Given the description of an element on the screen output the (x, y) to click on. 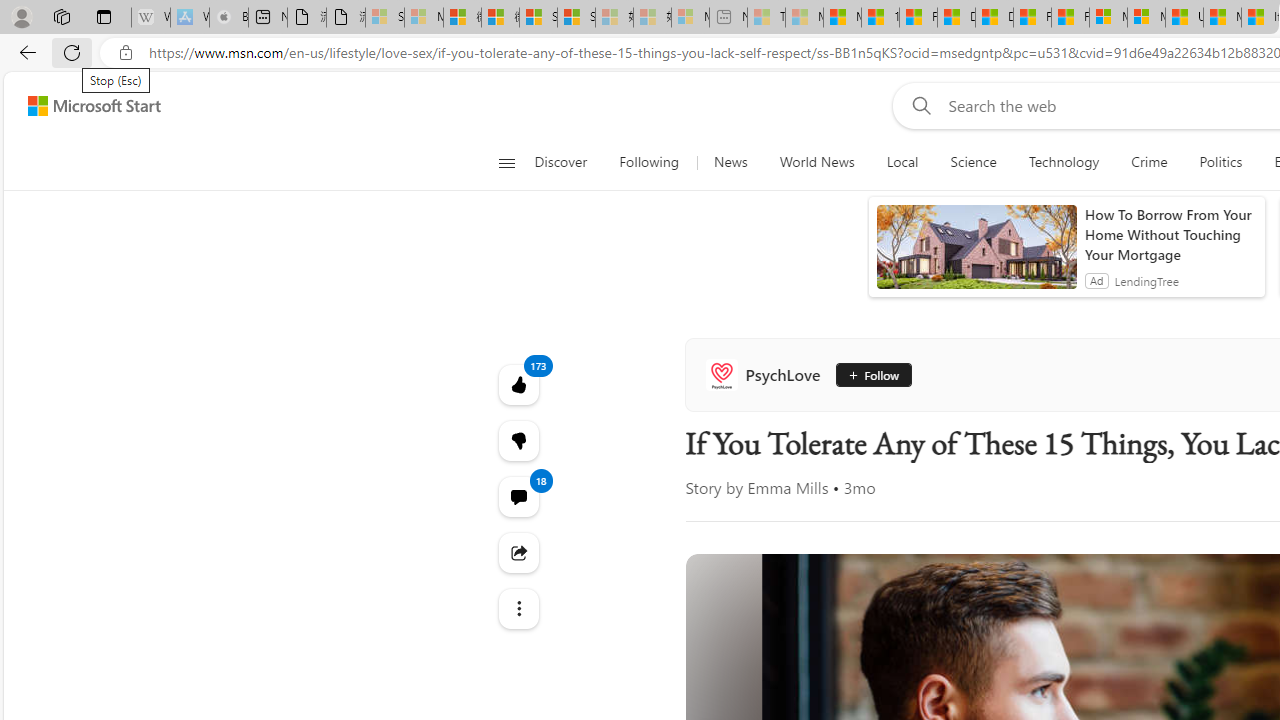
Share this story (517, 552)
Follow (873, 374)
Buy iPad - Apple - Sleeping (228, 17)
Foo BAR | Trusted Community Engagement and Contributions (1070, 17)
Class: at-item (517, 609)
US Heat Deaths Soared To Record High Last Year (1184, 17)
